Given the description of an element on the screen output the (x, y) to click on. 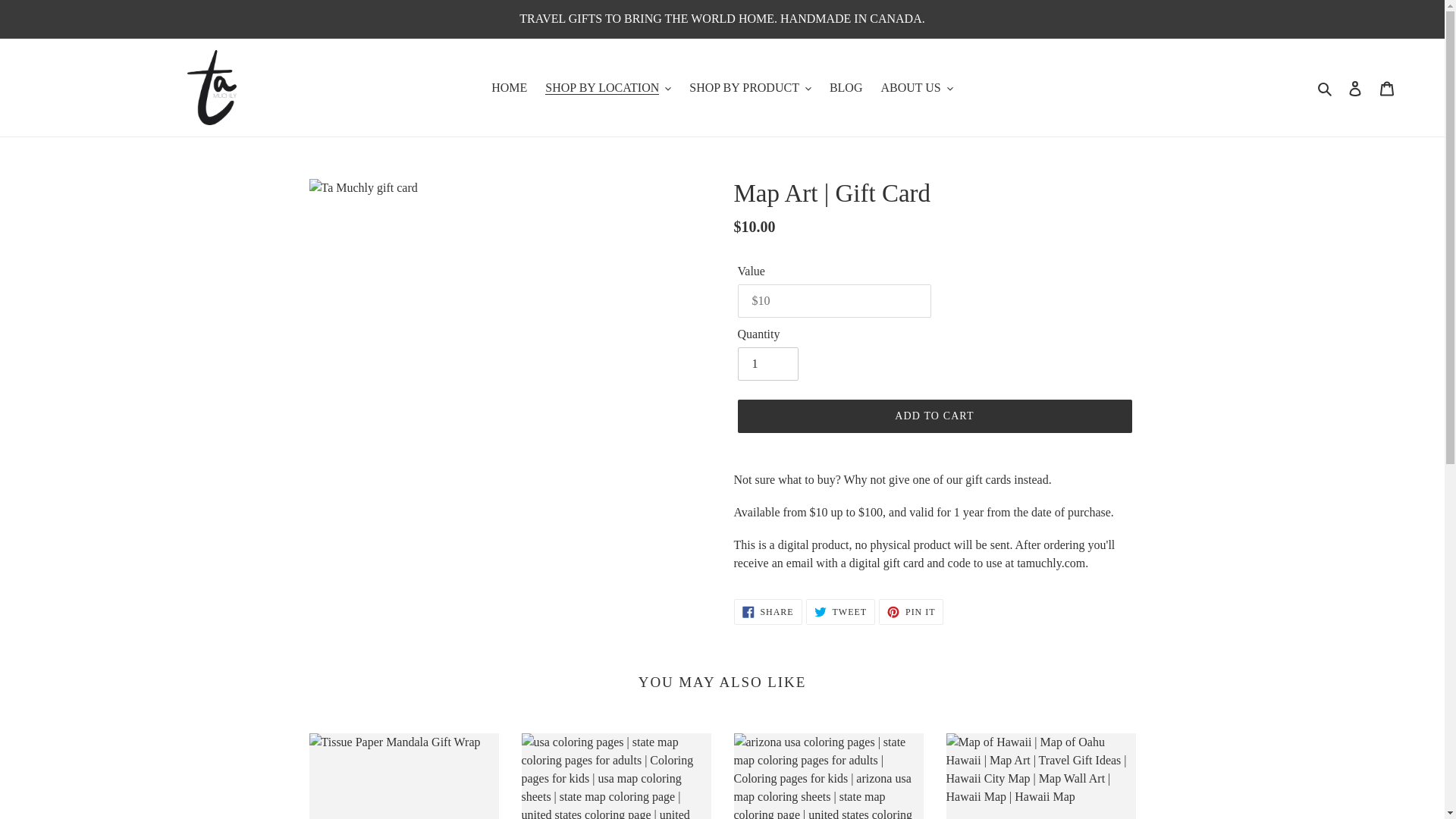
SHOP BY LOCATION (607, 87)
SHOP BY PRODUCT (749, 87)
HOME (508, 87)
1 (766, 363)
